Given the description of an element on the screen output the (x, y) to click on. 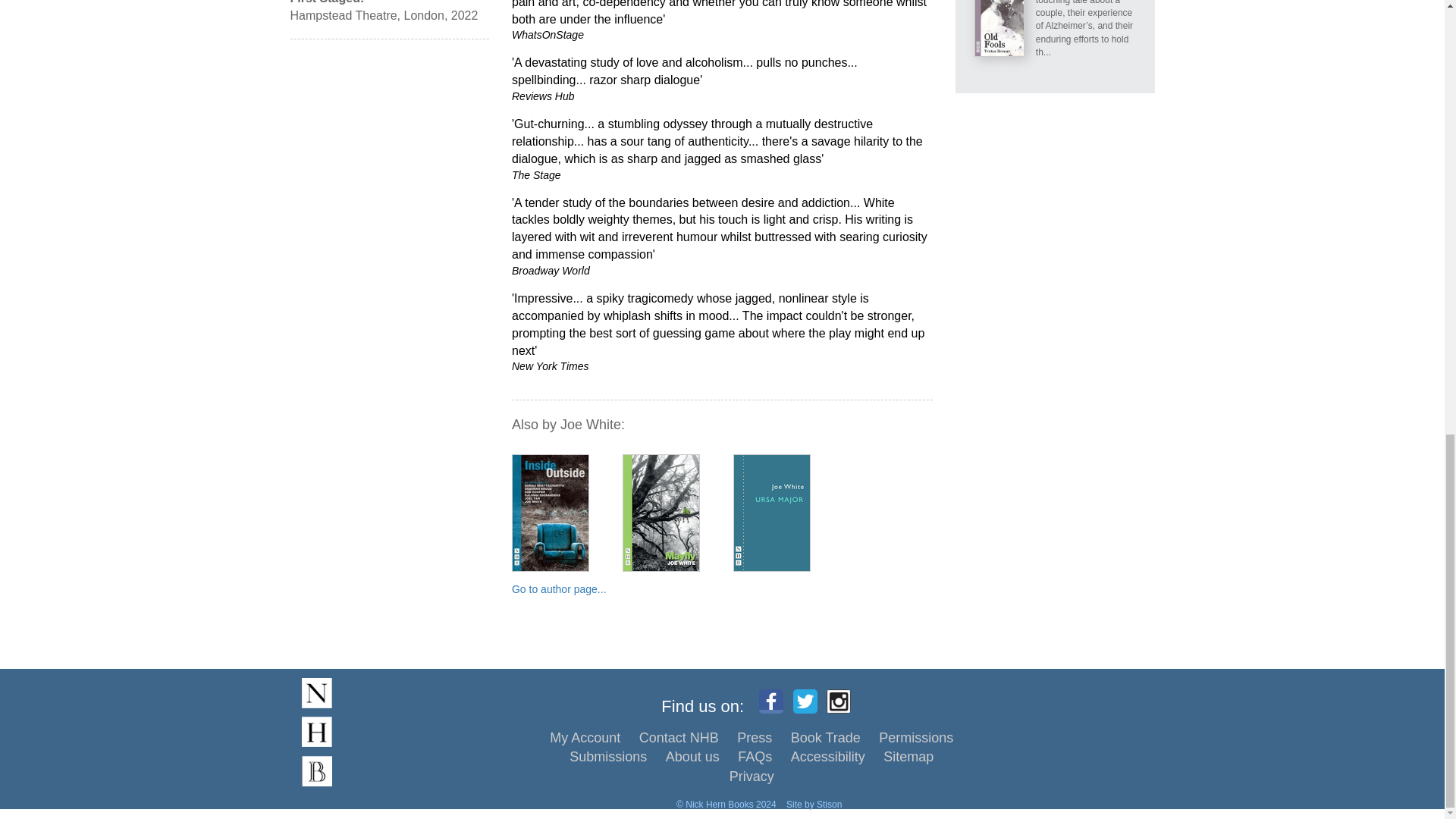
Facebook page (770, 701)
Twitter page (804, 701)
Instagram page (838, 701)
